Given the description of an element on the screen output the (x, y) to click on. 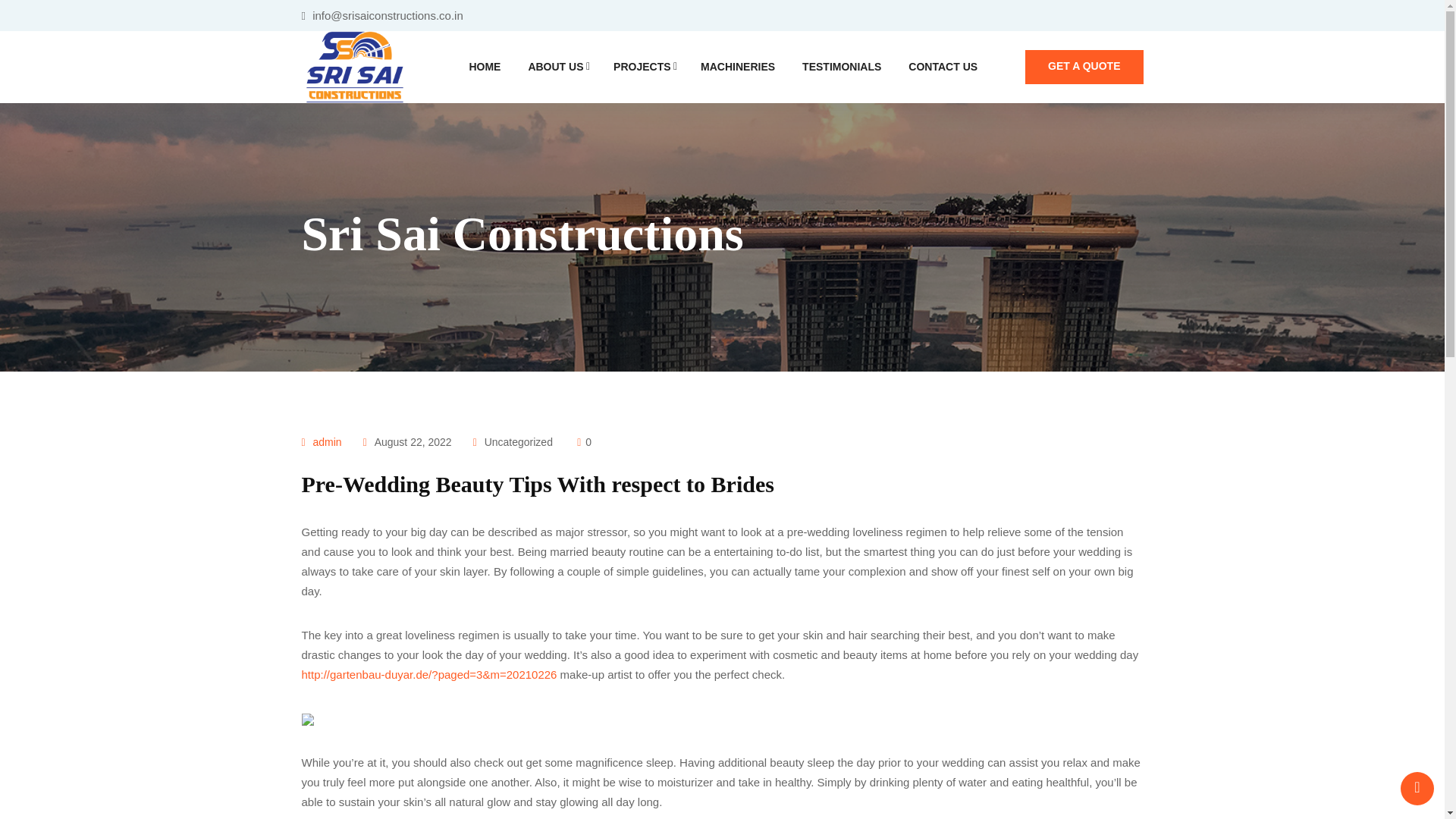
GET A QUOTE (1083, 66)
MACHINERIES (737, 66)
TESTIMONIALS (841, 66)
HOME (484, 66)
admin (327, 440)
CONTACT US (943, 66)
ABOUT US (556, 66)
PROJECTS (643, 66)
